Given the description of an element on the screen output the (x, y) to click on. 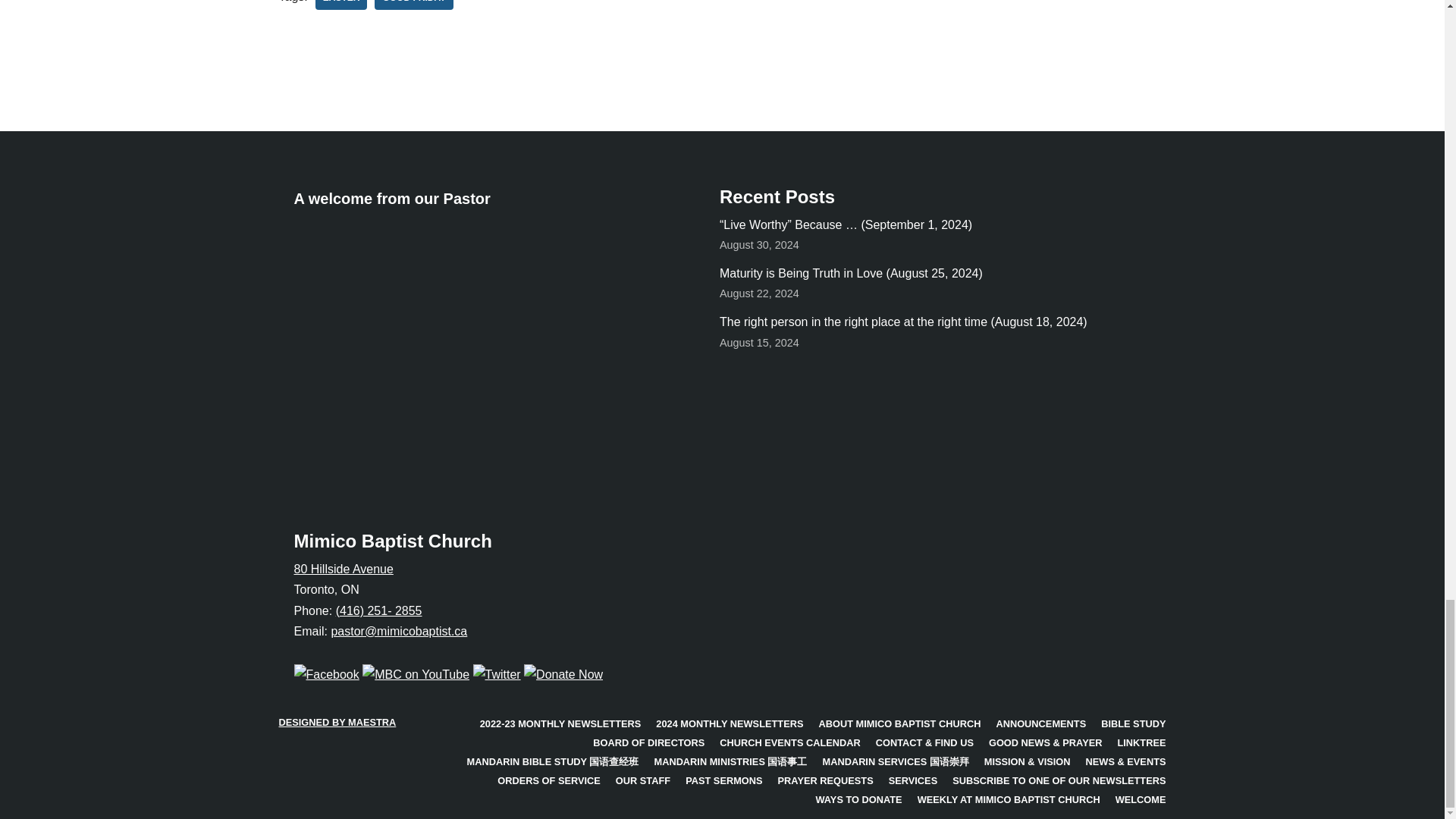
Welcome to Mimico Baptist Church (480, 345)
easter (341, 4)
Follow us on Twitter! (415, 674)
good friday (413, 4)
Follow us on Twitter! (497, 674)
